Given the description of an element on the screen output the (x, y) to click on. 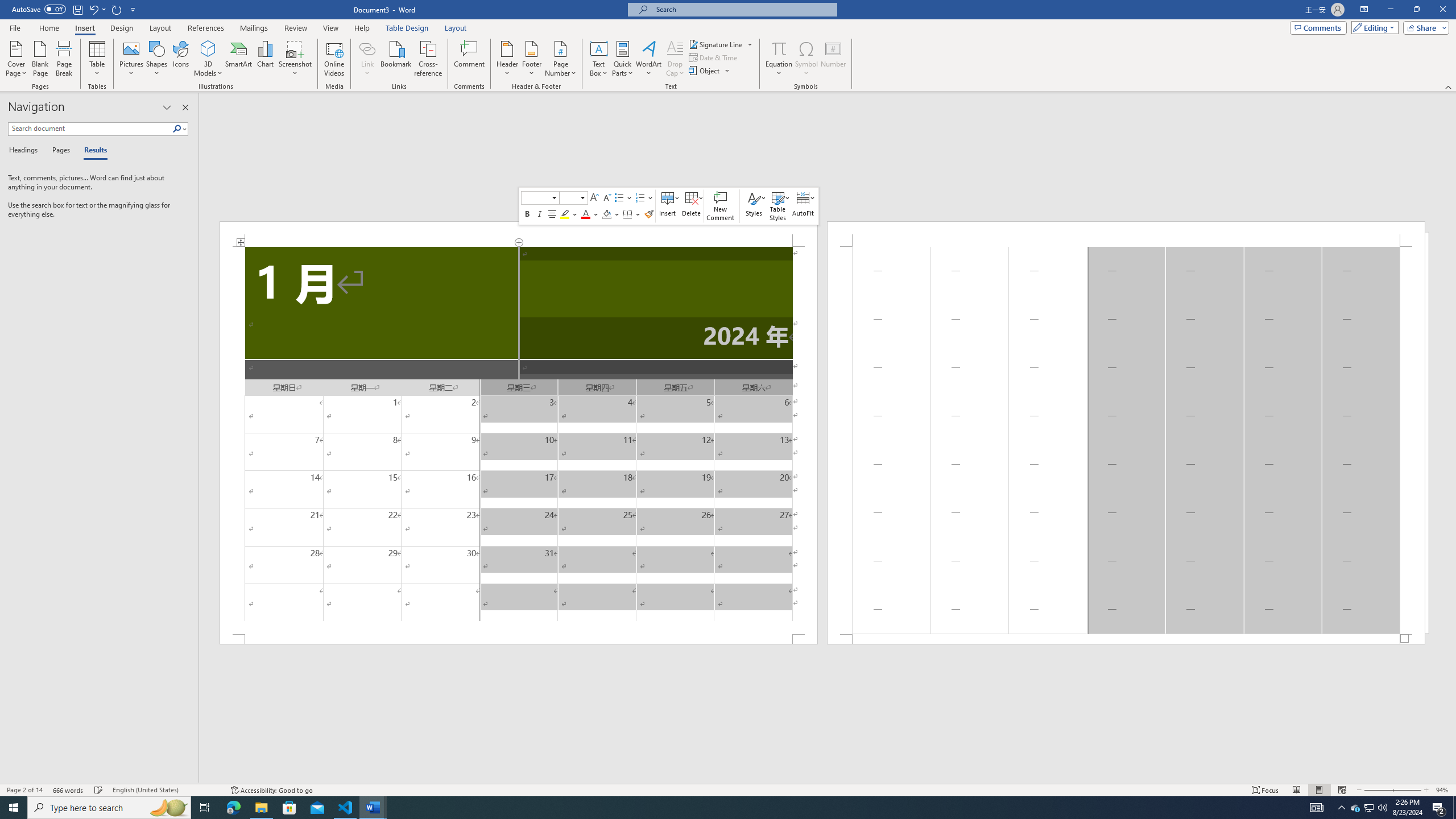
Shading (610, 214)
Microsoft search (742, 9)
Class: MsoCommandBar (728, 789)
SmartArt... (238, 58)
Header -Section 1- (1126, 233)
Text Highlight Color Yellow (564, 214)
Headings (25, 150)
Table Design (407, 28)
